Given the description of an element on the screen output the (x, y) to click on. 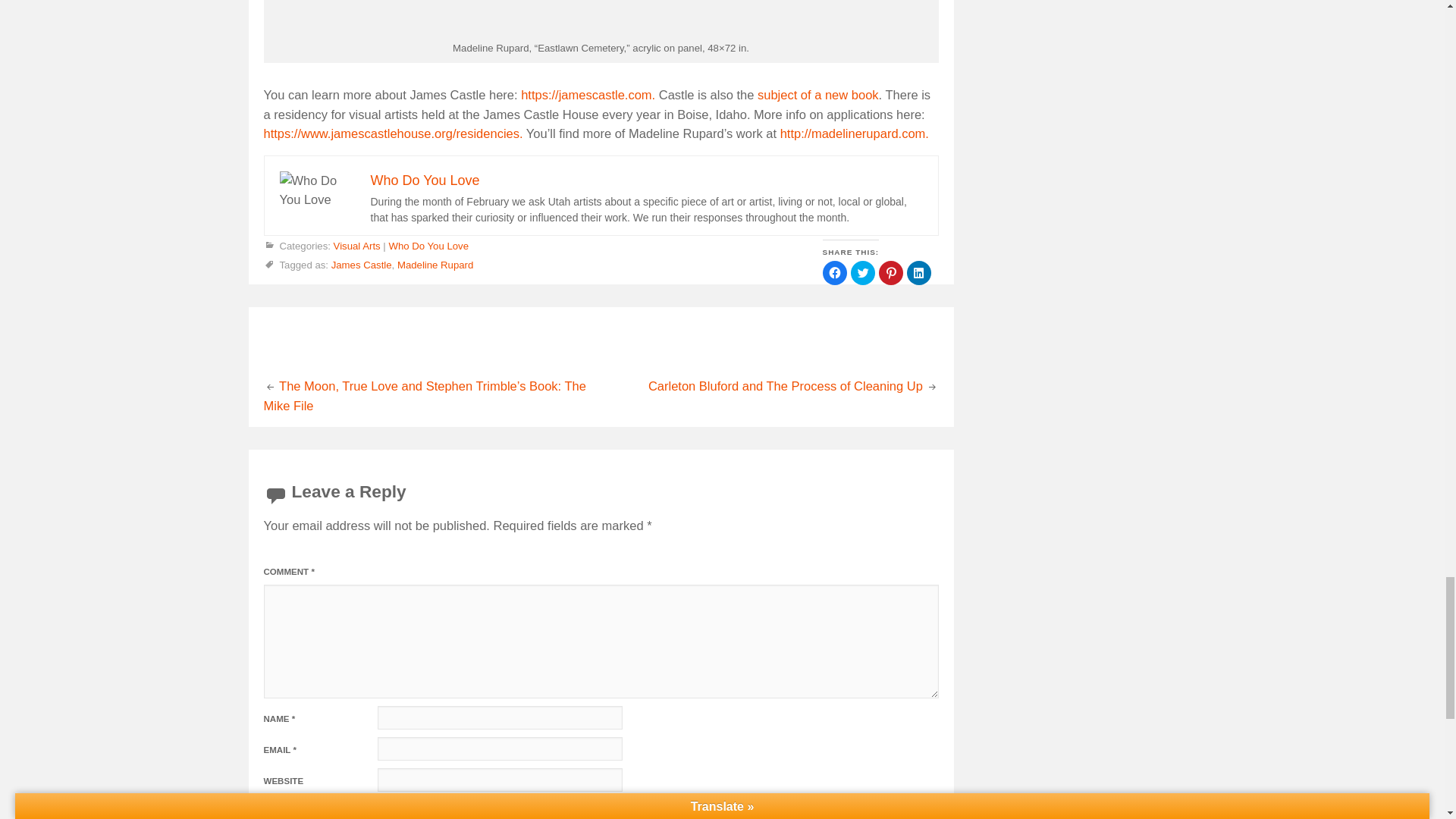
Click to share on Pinterest (889, 273)
Click to share on Facebook (833, 273)
Post Comment (328, 809)
Click to share on Twitter (862, 273)
Click to share on LinkedIn (919, 273)
